Given the description of an element on the screen output the (x, y) to click on. 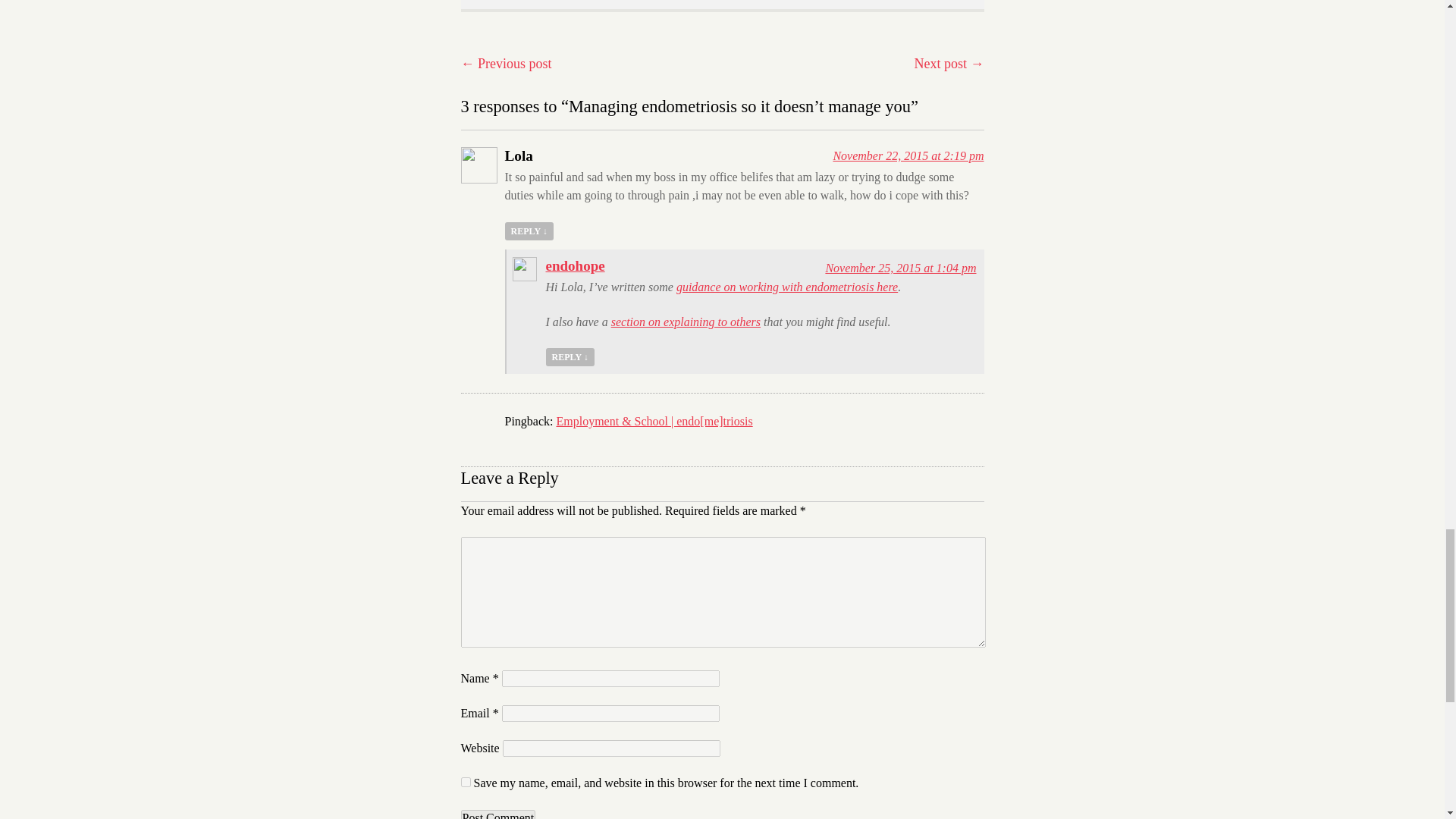
November 22, 2015 at 2:19 pm (908, 155)
guidance on working with endometriosis here (787, 286)
Post Comment (498, 814)
endohope (575, 265)
Post Comment (498, 814)
section on explaining to others (685, 321)
yes (465, 782)
November 25, 2015 at 1:04 pm (900, 267)
